Given the description of an element on the screen output the (x, y) to click on. 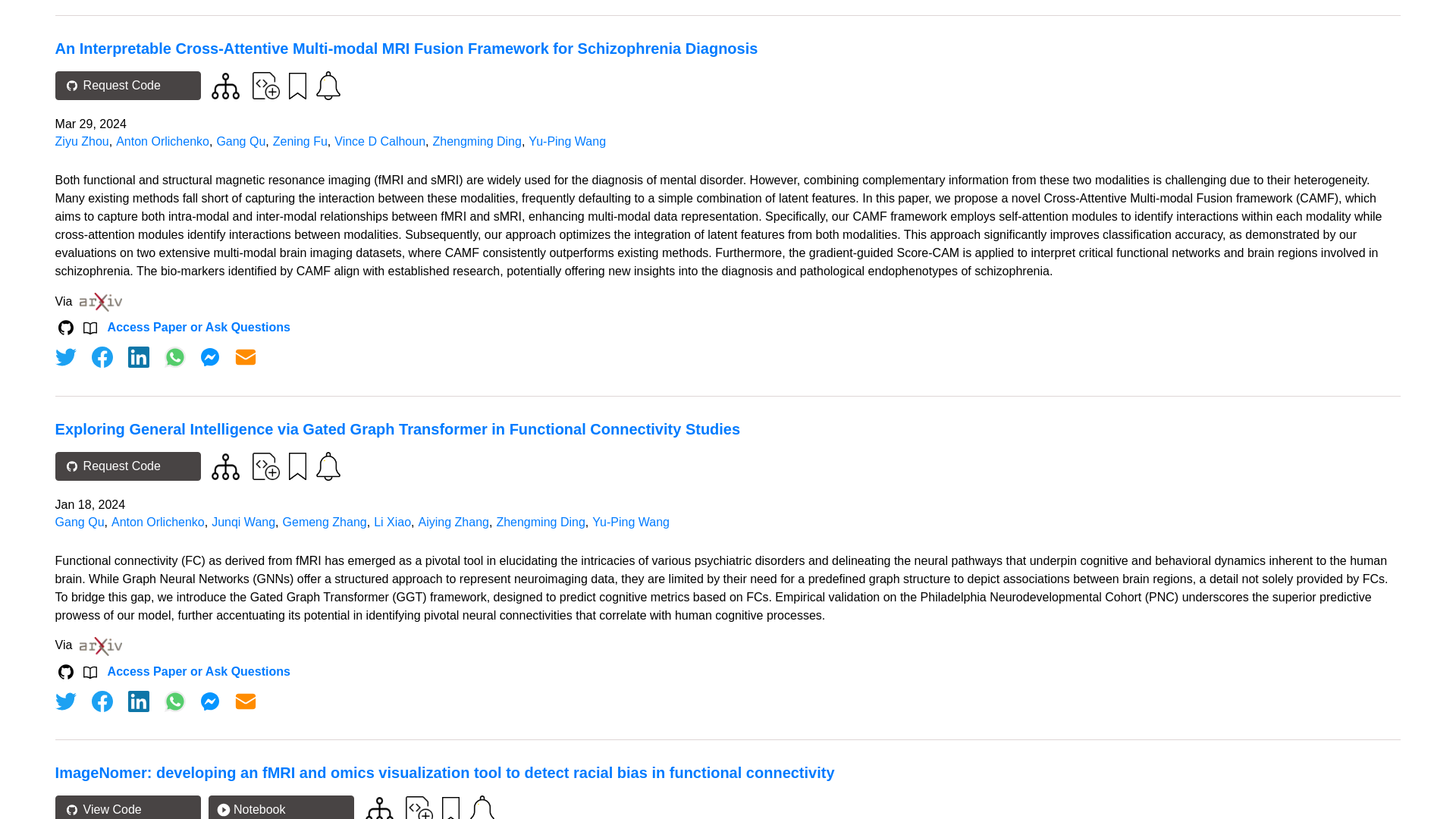
Contribute your code for this paper to the community (265, 465)
Zening Fu (300, 141)
Share via Email (245, 356)
View code for similar papers (225, 466)
Request Code (127, 85)
View code for similar papers (225, 85)
Share via Email (245, 701)
Contribute your code for this paper to the community (265, 85)
Ziyu Zhou (82, 141)
